Given the description of an element on the screen output the (x, y) to click on. 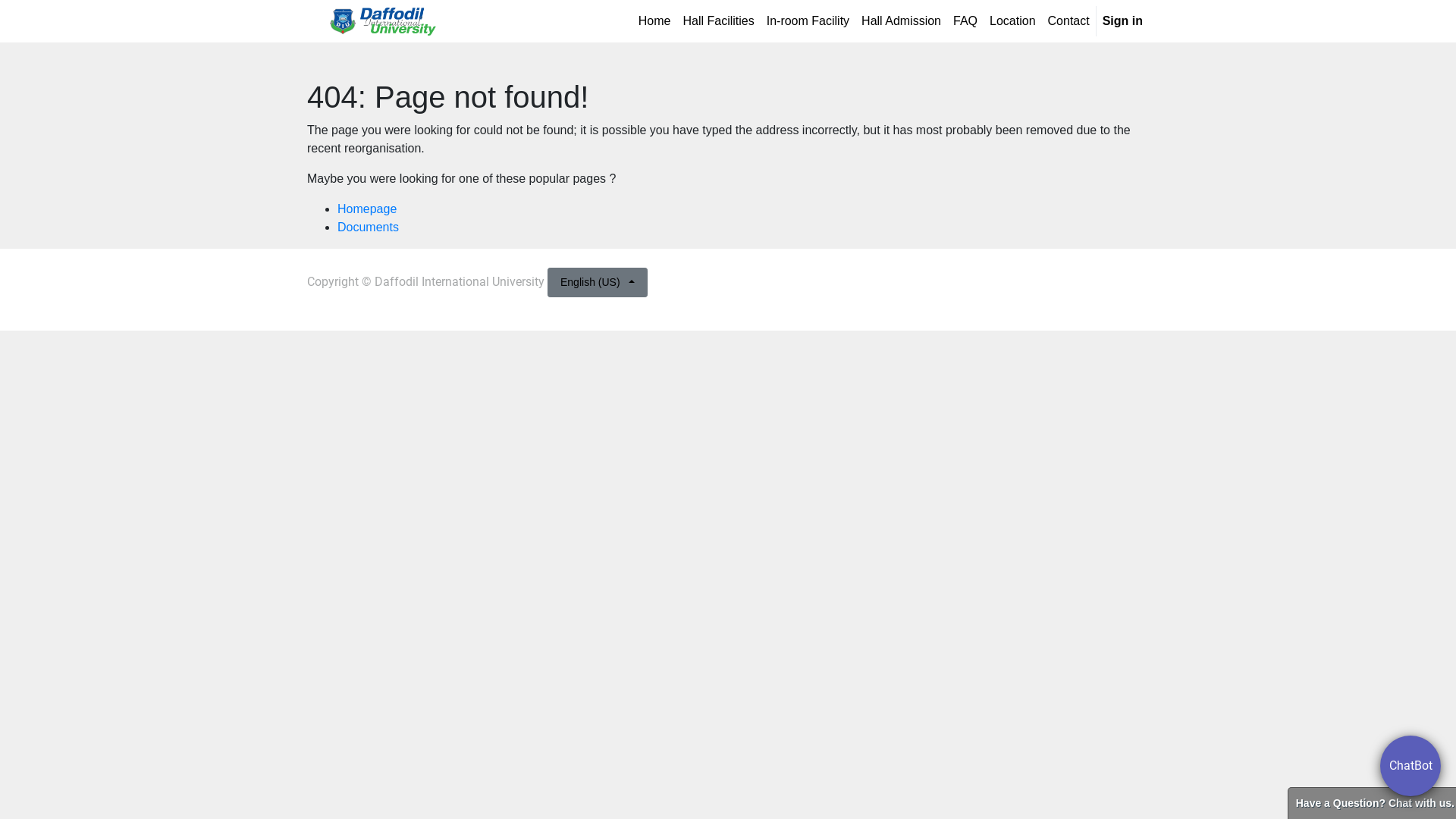
English (US) Element type: text (597, 282)
Documents Element type: text (367, 226)
Location Element type: text (1012, 21)
In-room Facility Element type: text (807, 21)
Smart Edu - DIU Element type: hover (382, 21)
Contact Element type: text (1068, 21)
Hall Admission Element type: text (901, 21)
FAQ Element type: text (965, 21)
Homepage Element type: text (366, 208)
Hall Facilities Element type: text (717, 21)
Home Element type: text (654, 21)
Sign in Element type: text (1122, 21)
